Given the description of an element on the screen output the (x, y) to click on. 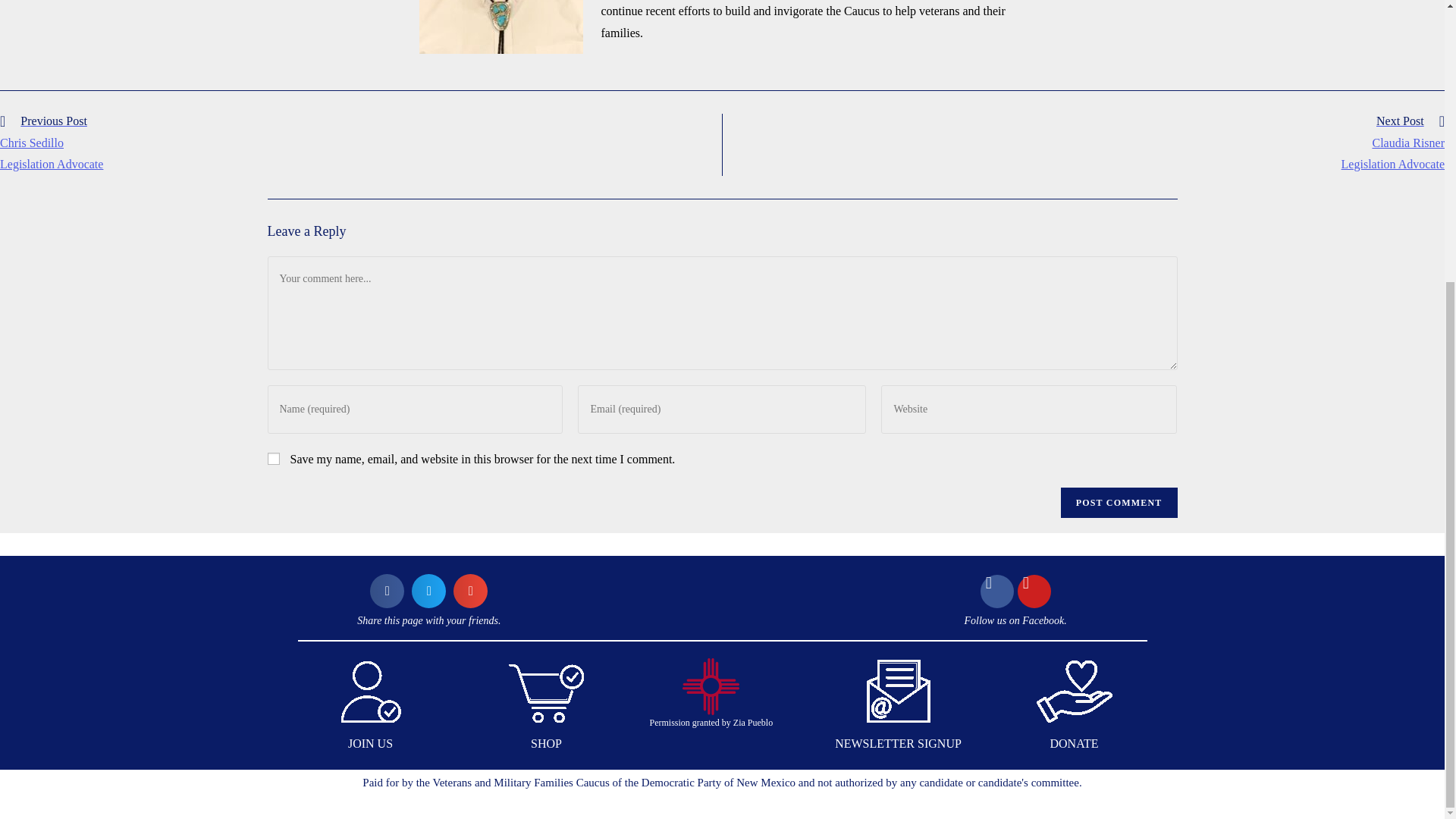
yes (272, 458)
Post Comment (1119, 502)
